Given the description of an element on the screen output the (x, y) to click on. 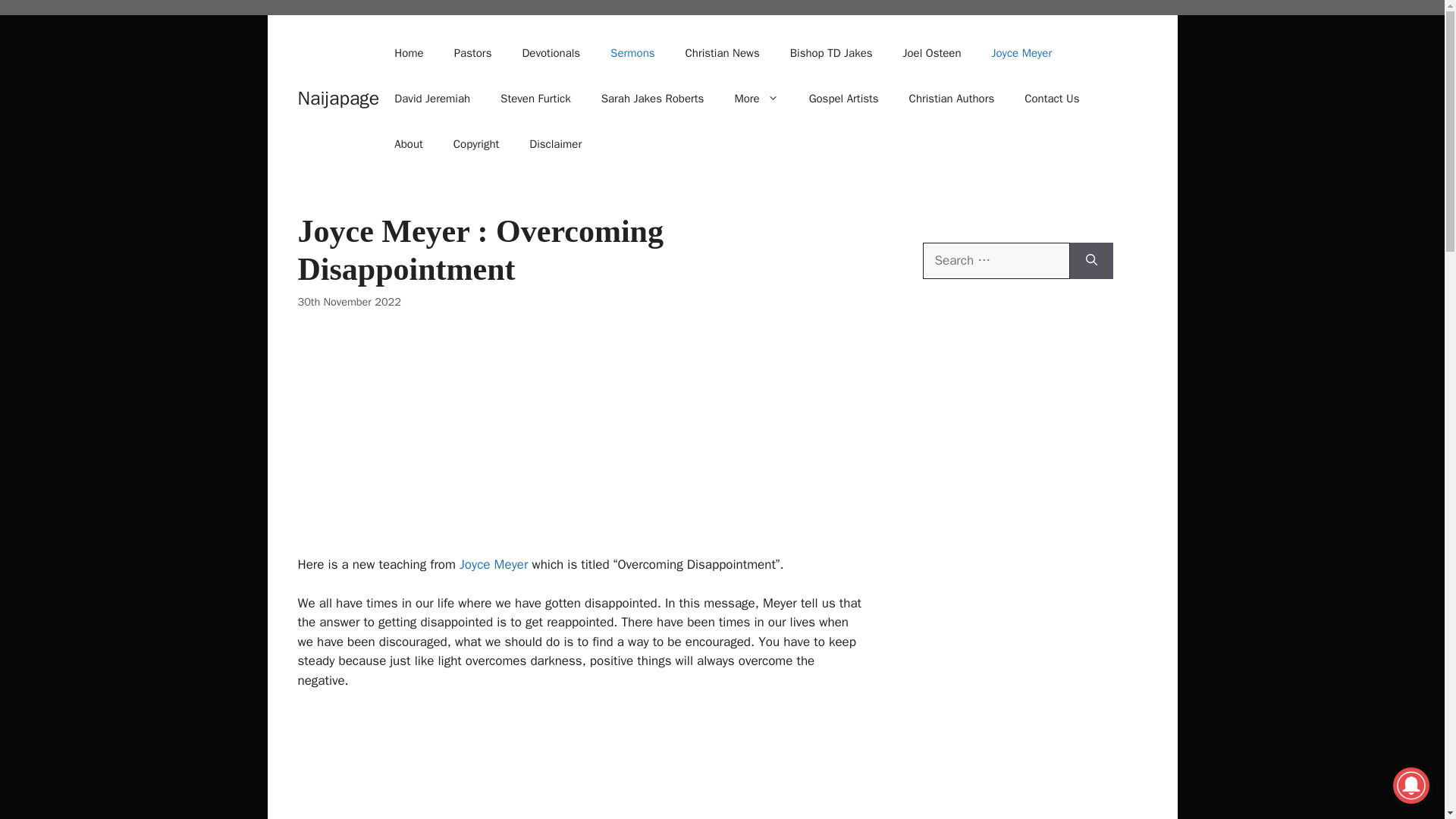
Christian News (721, 53)
Steven Furtick (535, 98)
More (756, 98)
Joyce Meyer (1021, 53)
Bishop TD Jakes (831, 53)
Sermons (632, 53)
Devotionals (550, 53)
Naijapage (337, 97)
Home (408, 53)
Advertisement (580, 442)
